Given the description of an element on the screen output the (x, y) to click on. 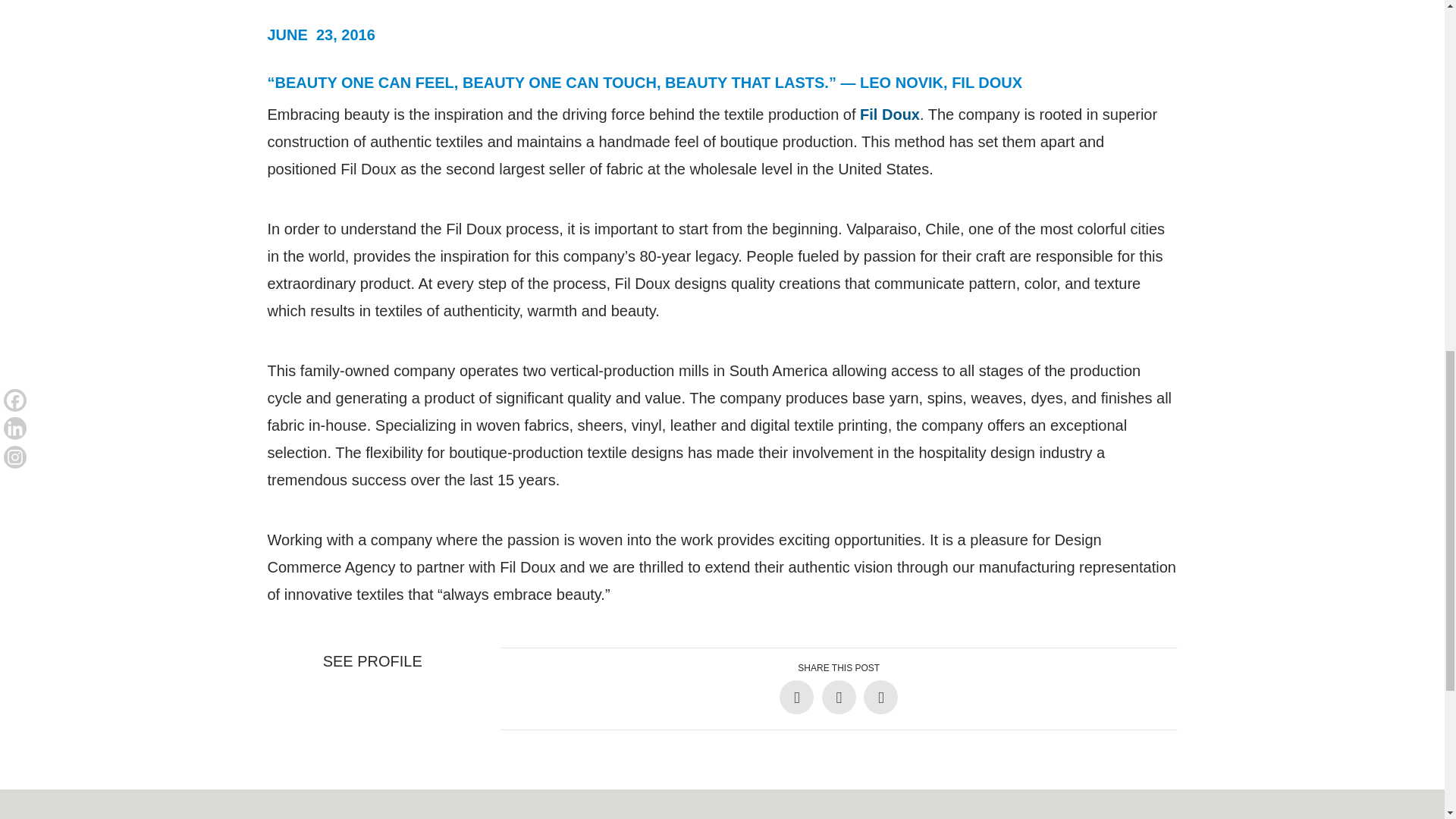
Share on Pinterest (880, 697)
Fil Doux (890, 114)
Share on Facebook (795, 697)
Share on Twitter (839, 697)
